Given the description of an element on the screen output the (x, y) to click on. 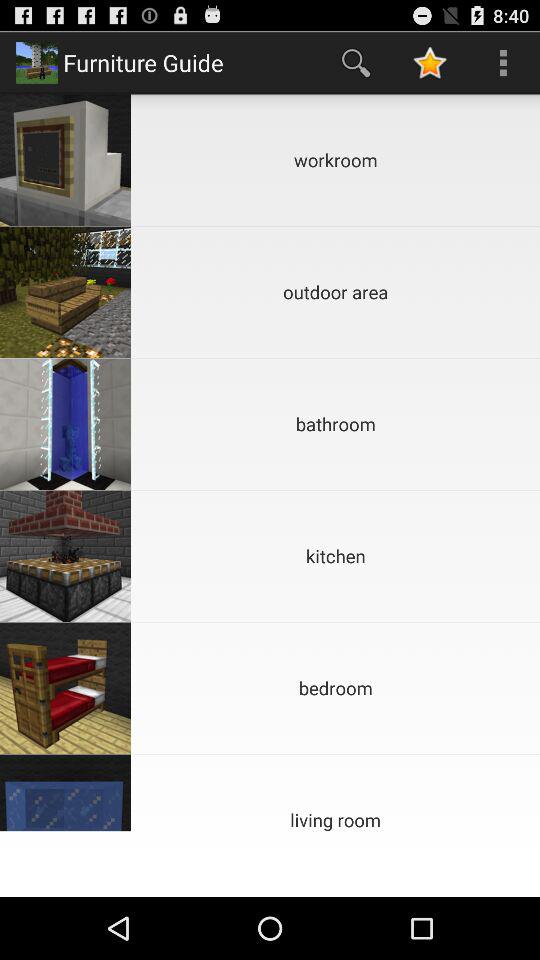
scroll to workroom icon (335, 159)
